Given the description of an element on the screen output the (x, y) to click on. 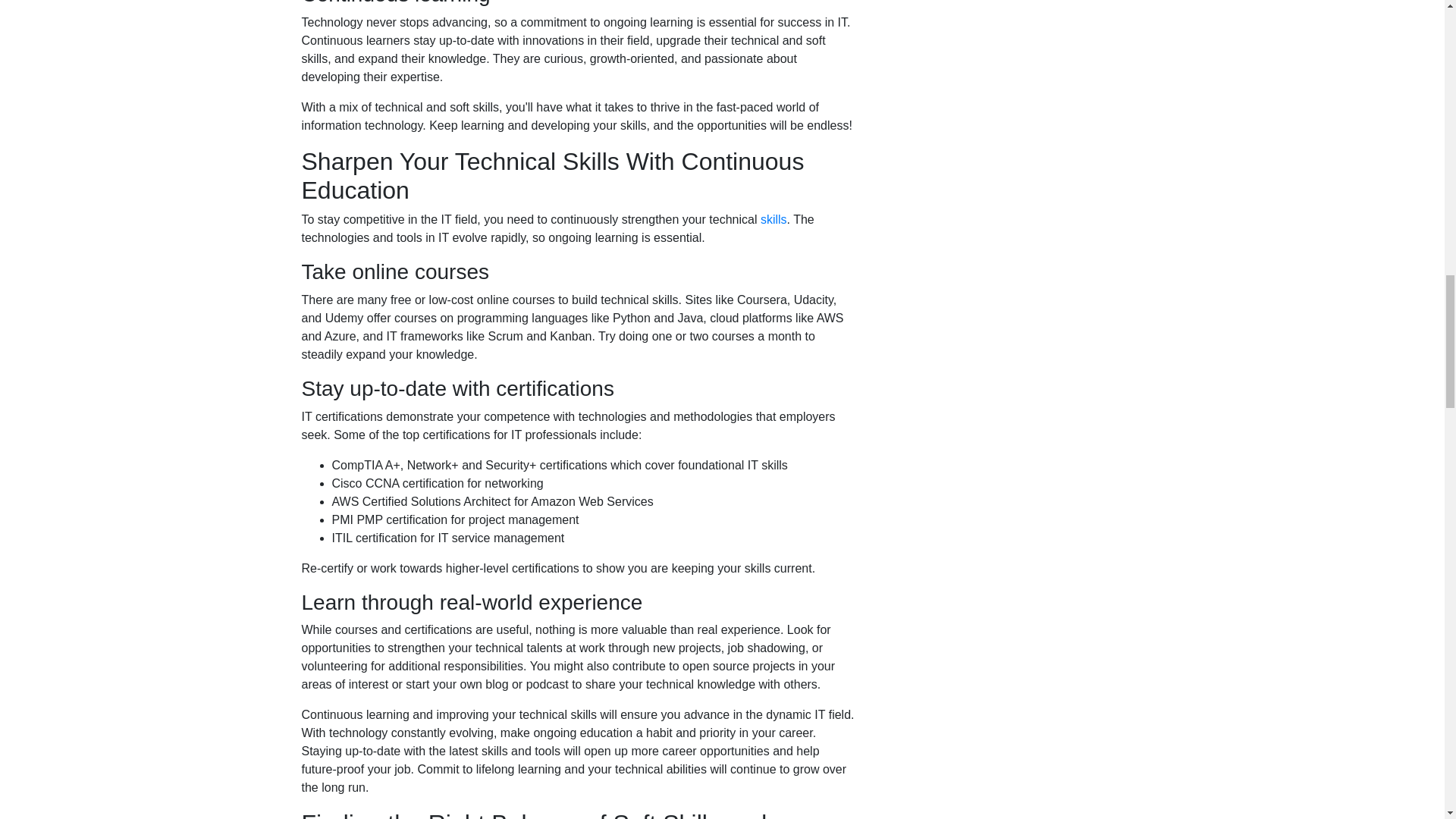
skills (773, 219)
